Given the description of an element on the screen output the (x, y) to click on. 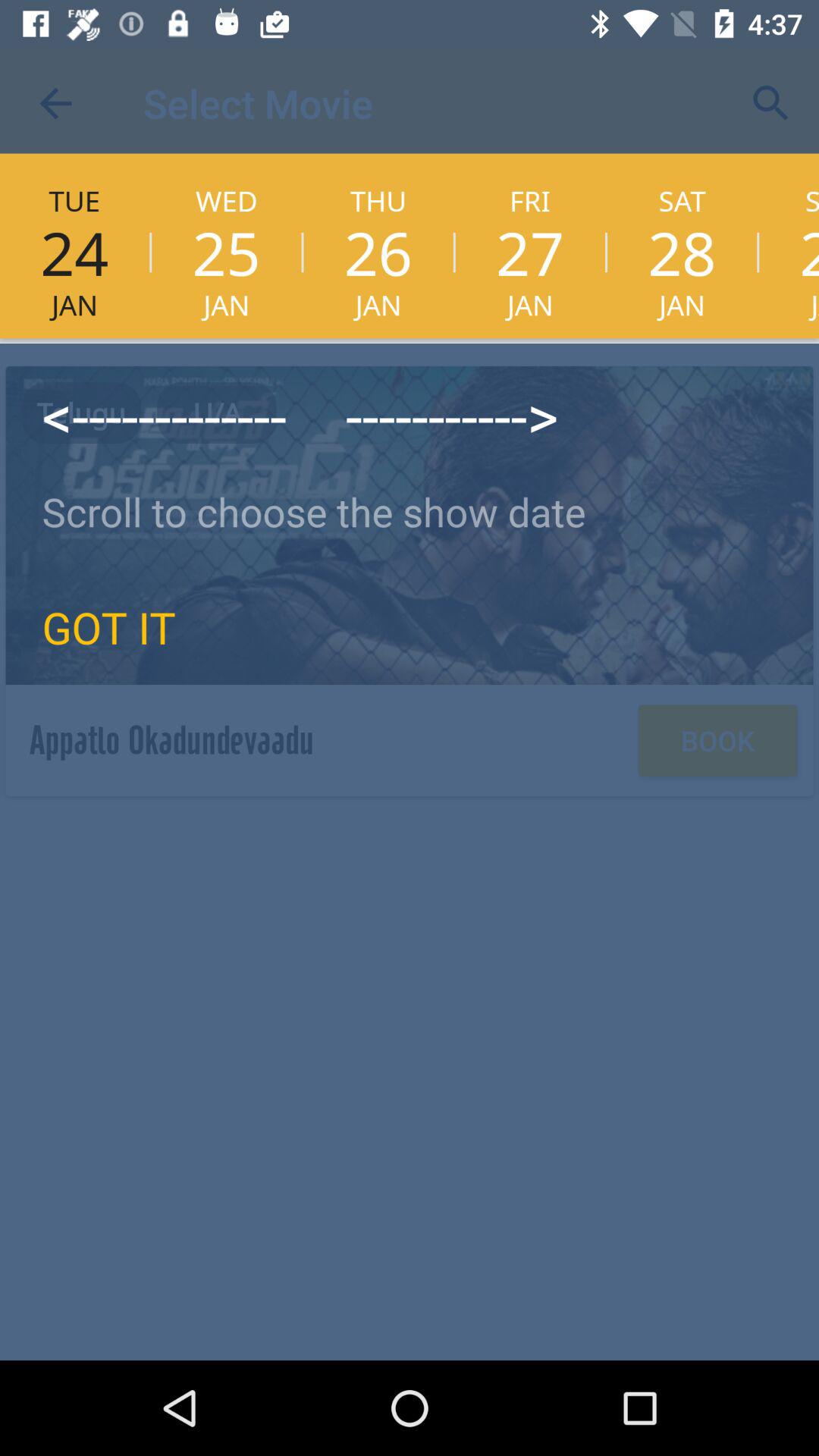
press icon below the scroll to choose icon (108, 626)
